Given the description of an element on the screen output the (x, y) to click on. 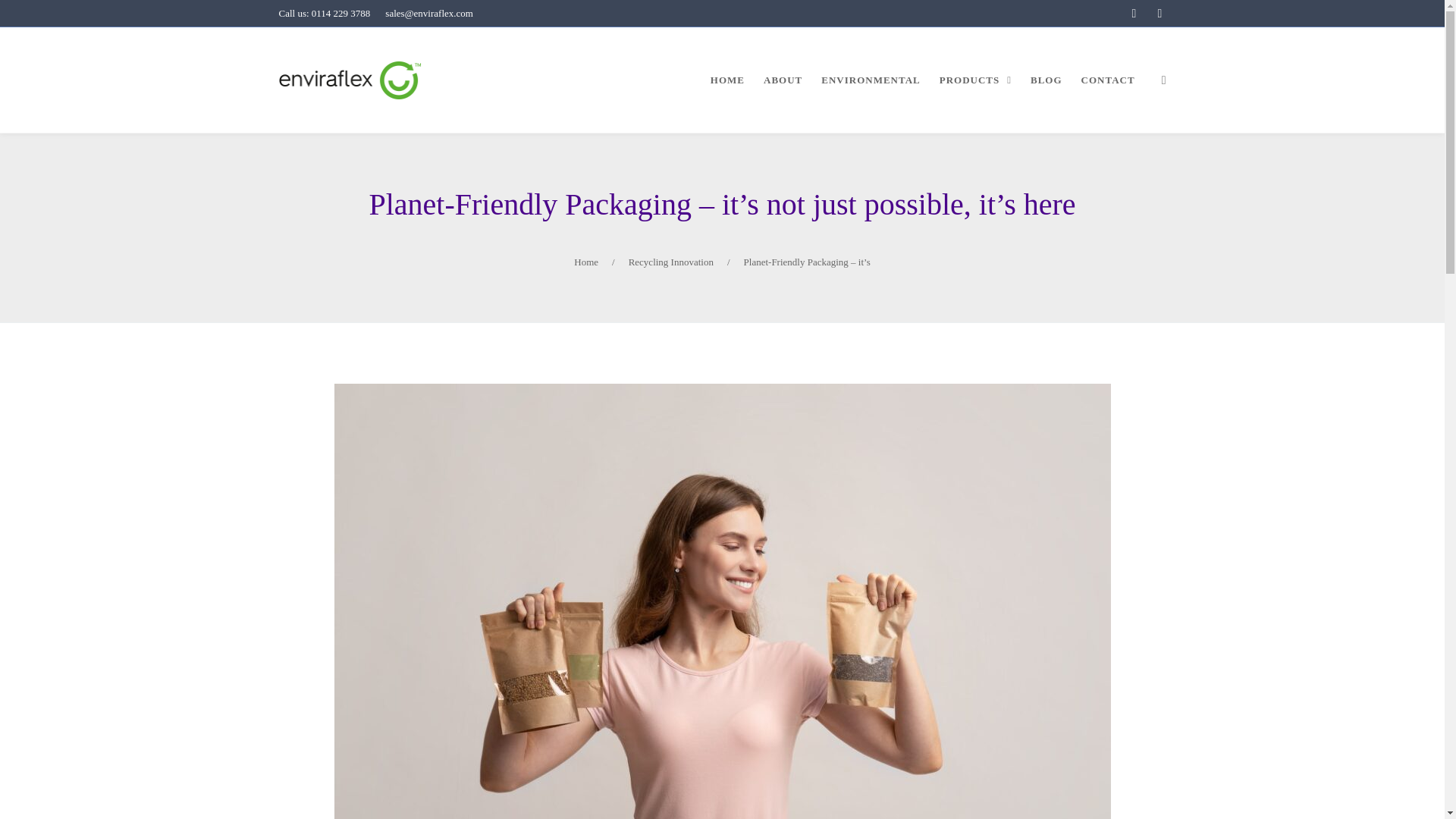
Enviraflex Products (321, 687)
YouTube (753, 687)
Linkedin (753, 669)
Home (585, 261)
Home (585, 261)
Enviraflex (351, 79)
Privacy Policy (537, 687)
Call us: 0114 229 3788 (325, 13)
Enviraflex Story (314, 669)
ENVIRONMENTAL (871, 80)
Recycling Innovation (670, 261)
Blog (516, 669)
